Given the description of an element on the screen output the (x, y) to click on. 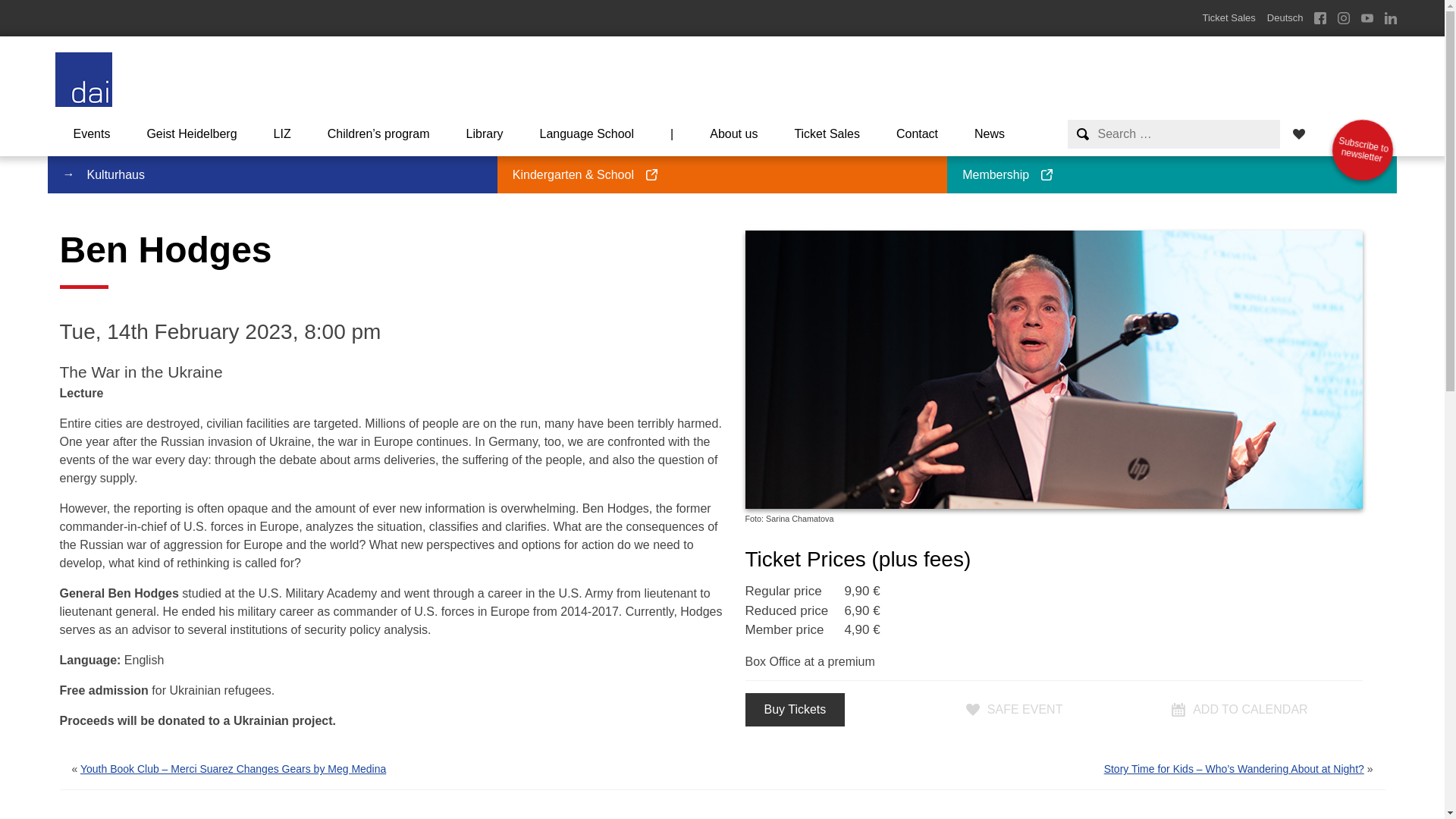
Library (484, 133)
News (989, 133)
Language School (586, 133)
Ticket Sales (826, 133)
Search (29, 12)
Geist Heidelberg (191, 133)
Events (91, 133)
Subscribe to newsletter (1356, 145)
Contact (1356, 145)
